Given the description of an element on the screen output the (x, y) to click on. 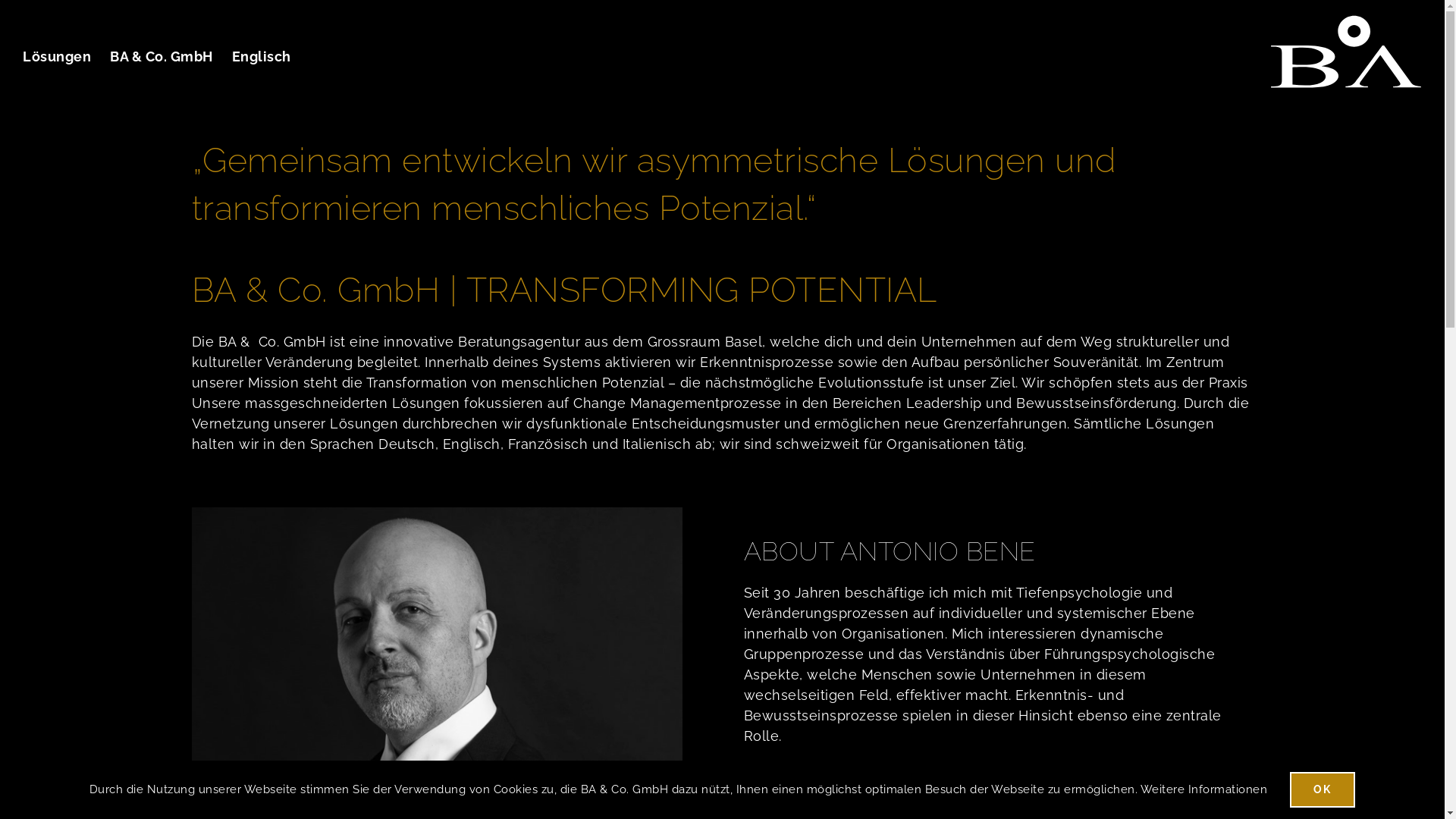
Erfahre Mehr Element type: text (997, 783)
BA & Co. GmbH Element type: text (161, 56)
Englisch Element type: text (261, 56)
OK Element type: text (1322, 789)
Weitere Informationen Element type: text (1203, 789)
